Given the description of an element on the screen output the (x, y) to click on. 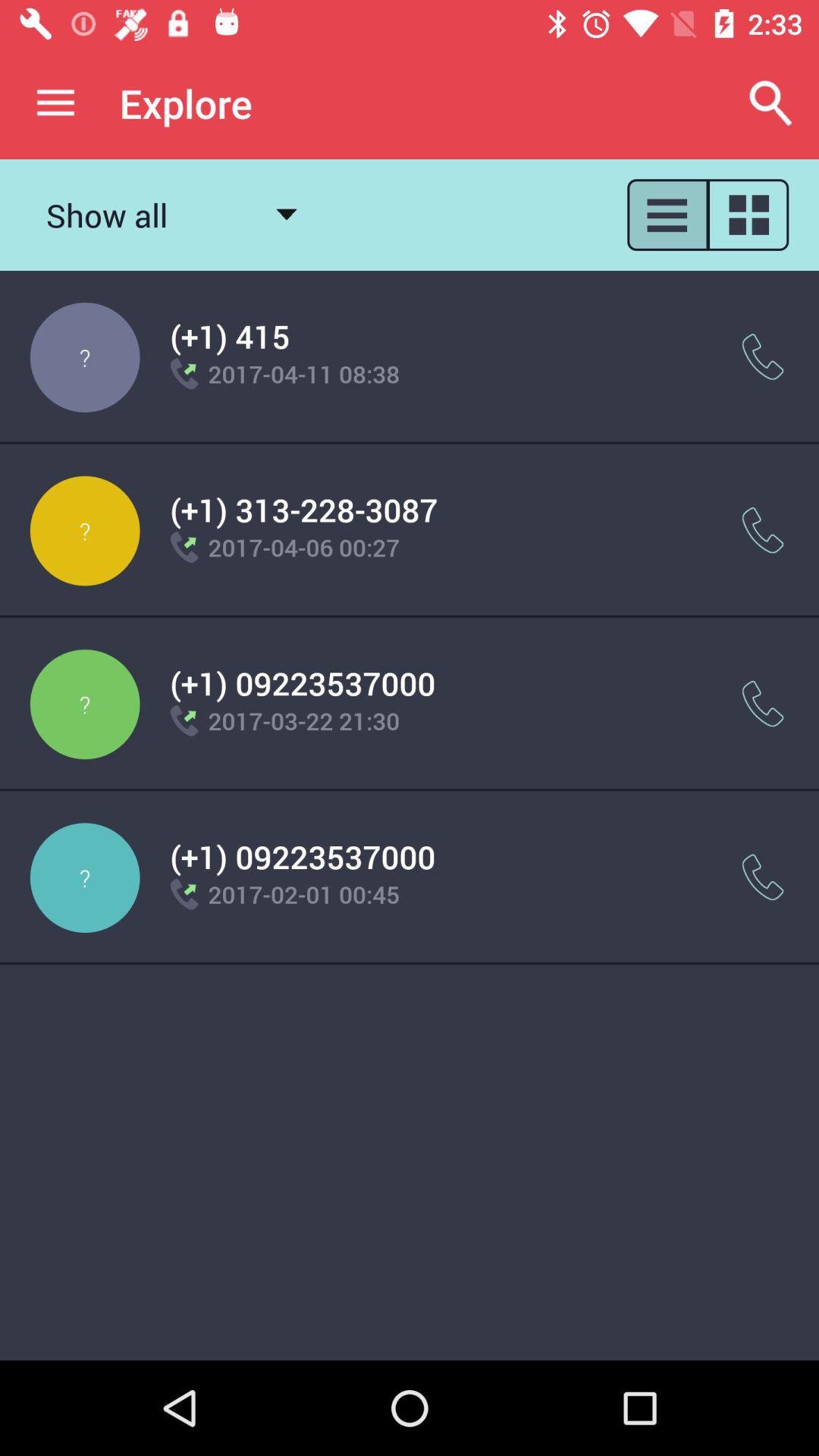
call (762, 530)
